Given the description of an element on the screen output the (x, y) to click on. 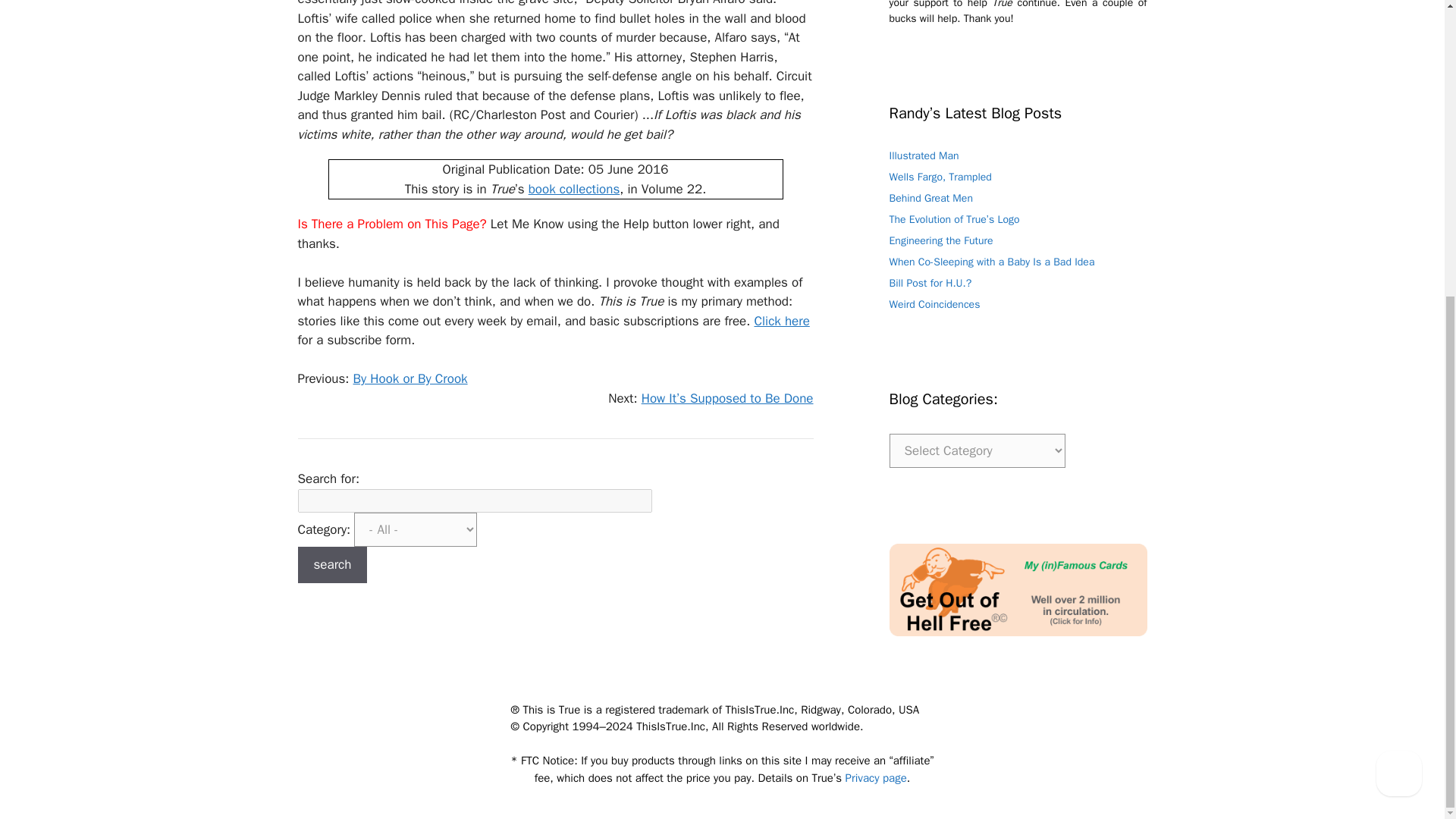
search (331, 565)
